Given the description of an element on the screen output the (x, y) to click on. 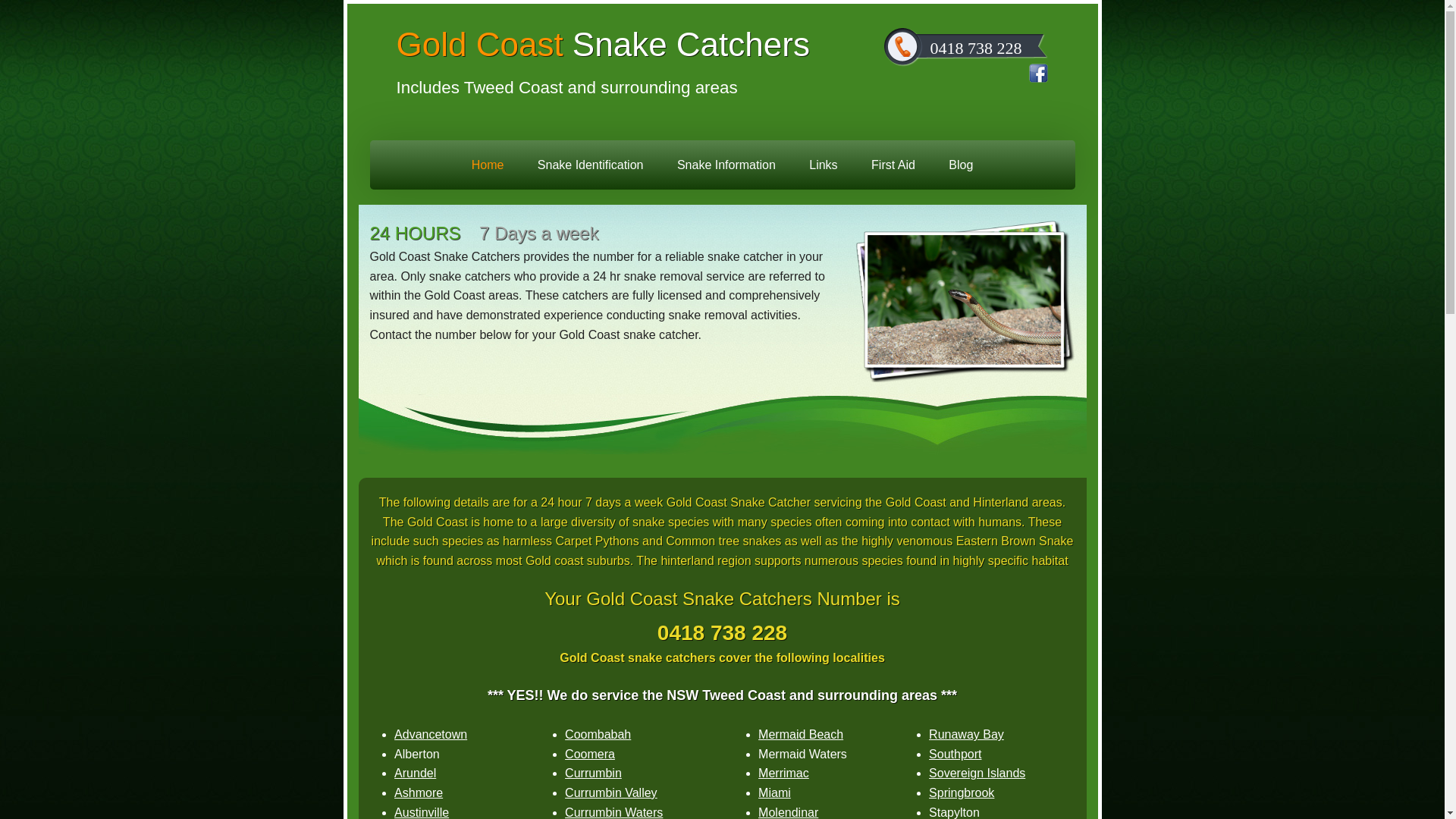
Sovereign Islands Element type: text (976, 772)
Gold Coast Snake Catchers Element type: text (608, 44)
Links Element type: text (822, 164)
Currumbin Valley Element type: text (610, 792)
Springbrook Element type: text (961, 792)
First Aid Element type: text (893, 164)
Home Element type: text (487, 164)
Merrimac Element type: text (783, 772)
Ashmore Element type: text (418, 792)
Runaway Bay Element type: text (966, 734)
Advancetown Element type: text (430, 734)
Snake Information Element type: text (726, 164)
Coombabah Element type: text (597, 734)
Snake Identification Element type: text (590, 164)
Mermaid Beach Element type: text (800, 734)
Miami Element type: text (774, 792)
Arundel Element type: text (415, 772)
Coomera Element type: text (589, 753)
Southport Element type: text (954, 753)
Blog Element type: text (960, 164)
Currumbin Element type: text (592, 772)
